Given the description of an element on the screen output the (x, y) to click on. 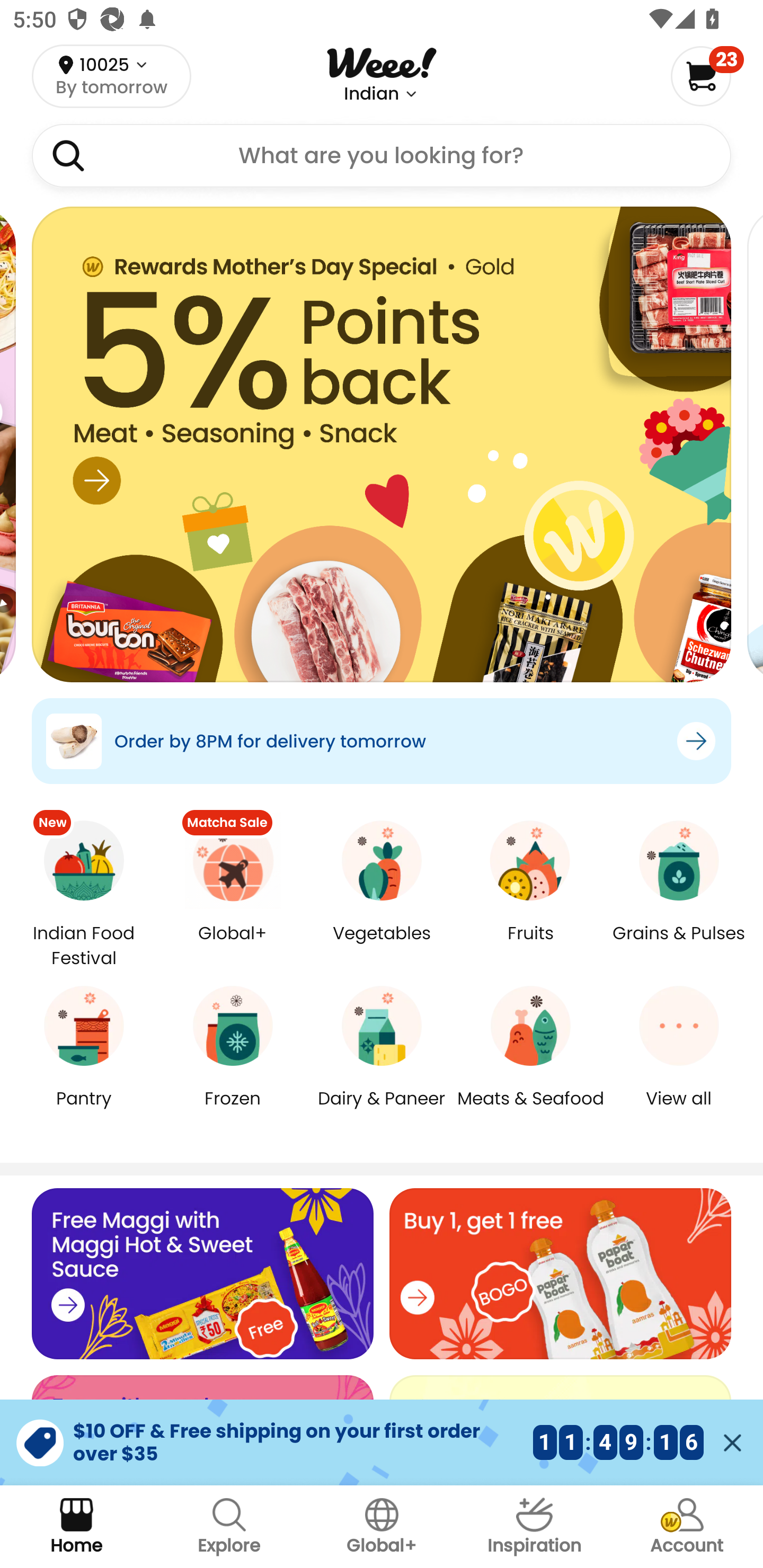
10025 By tomorrow (111, 75)
23 (706, 75)
Indian (371, 93)
What are you looking for? (381, 155)
Order by 8PM for delivery tomorrow (381, 740)
Indian Food Festival (83, 945)
Global+ (232, 946)
Vegetables (381, 946)
Fruits (530, 946)
Grains & Pulses (678, 946)
Pantry (83, 1111)
Frozen (232, 1111)
Dairy & Paneer (381, 1111)
Meats & Seafood (530, 1111)
View all (678, 1111)
Home (76, 1526)
Explore (228, 1526)
Global+ (381, 1526)
Inspiration (533, 1526)
Account (686, 1526)
